Given the description of an element on the screen output the (x, y) to click on. 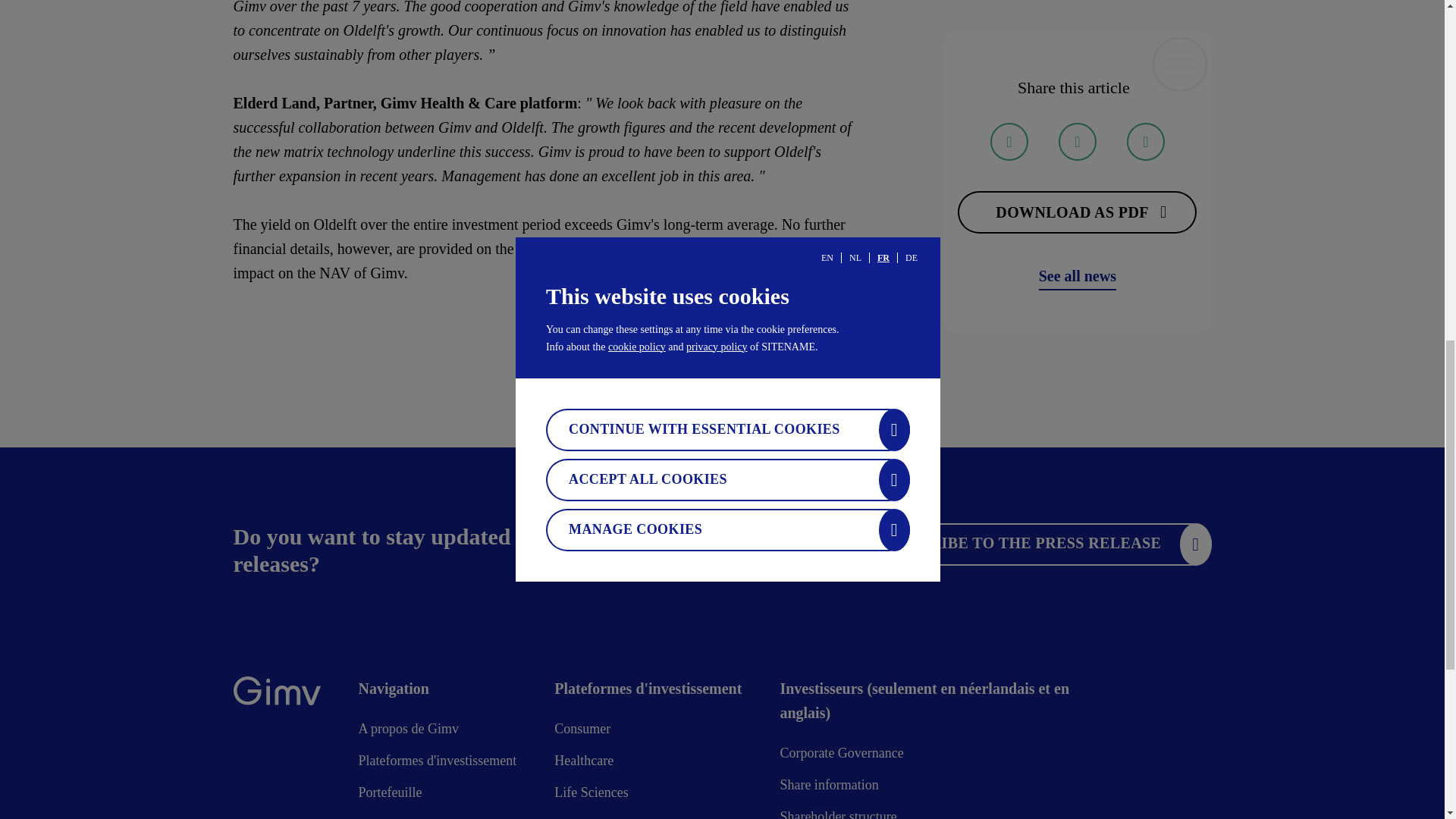
Portefeuille (390, 796)
Plateformes d'investissement (437, 764)
Accueil (276, 693)
A propos de Gimv (408, 732)
SUBSCRIBE TO THE PRESS RELEASE (1034, 544)
